Given the description of an element on the screen output the (x, y) to click on. 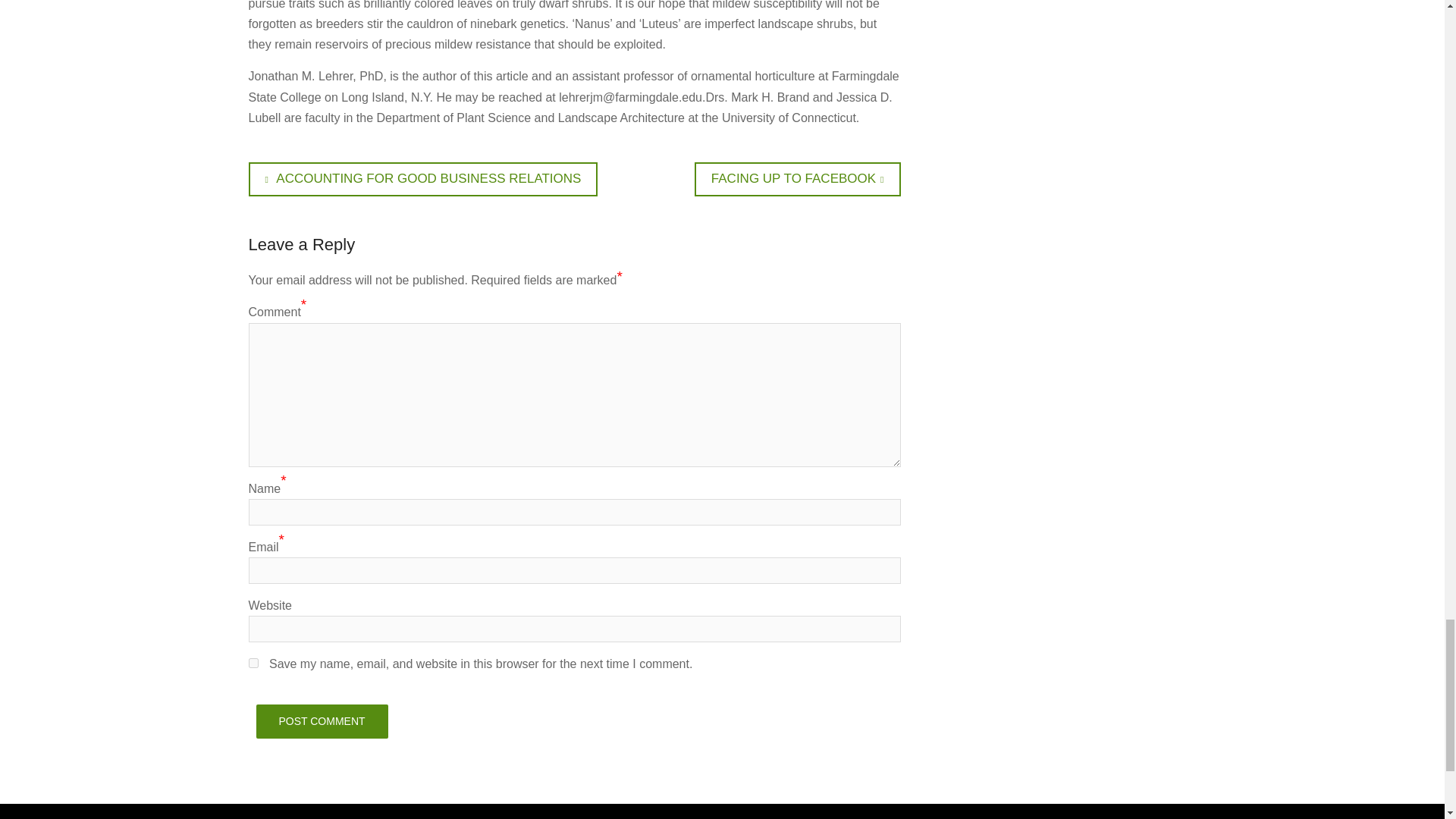
yes (423, 179)
Post Comment (253, 663)
Post Comment (322, 721)
